Given the description of an element on the screen output the (x, y) to click on. 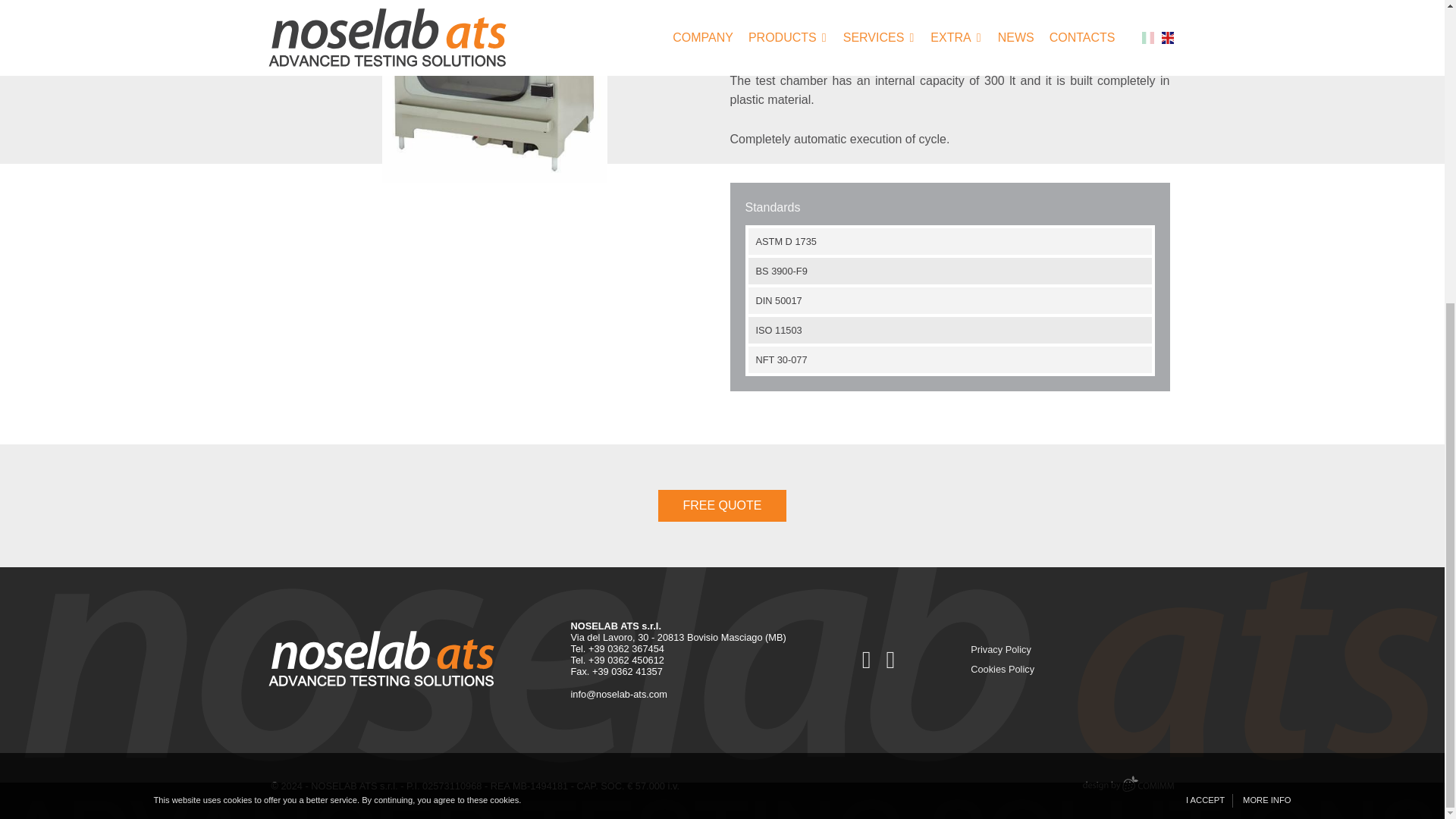
Cookies Policy (1002, 669)
I ACCEPT (1205, 326)
Privacy Policy (1002, 649)
MORE INFO (1262, 326)
FREE QUOTE (722, 505)
CORROSION BOX D100 (494, 91)
